Given the description of an element on the screen output the (x, y) to click on. 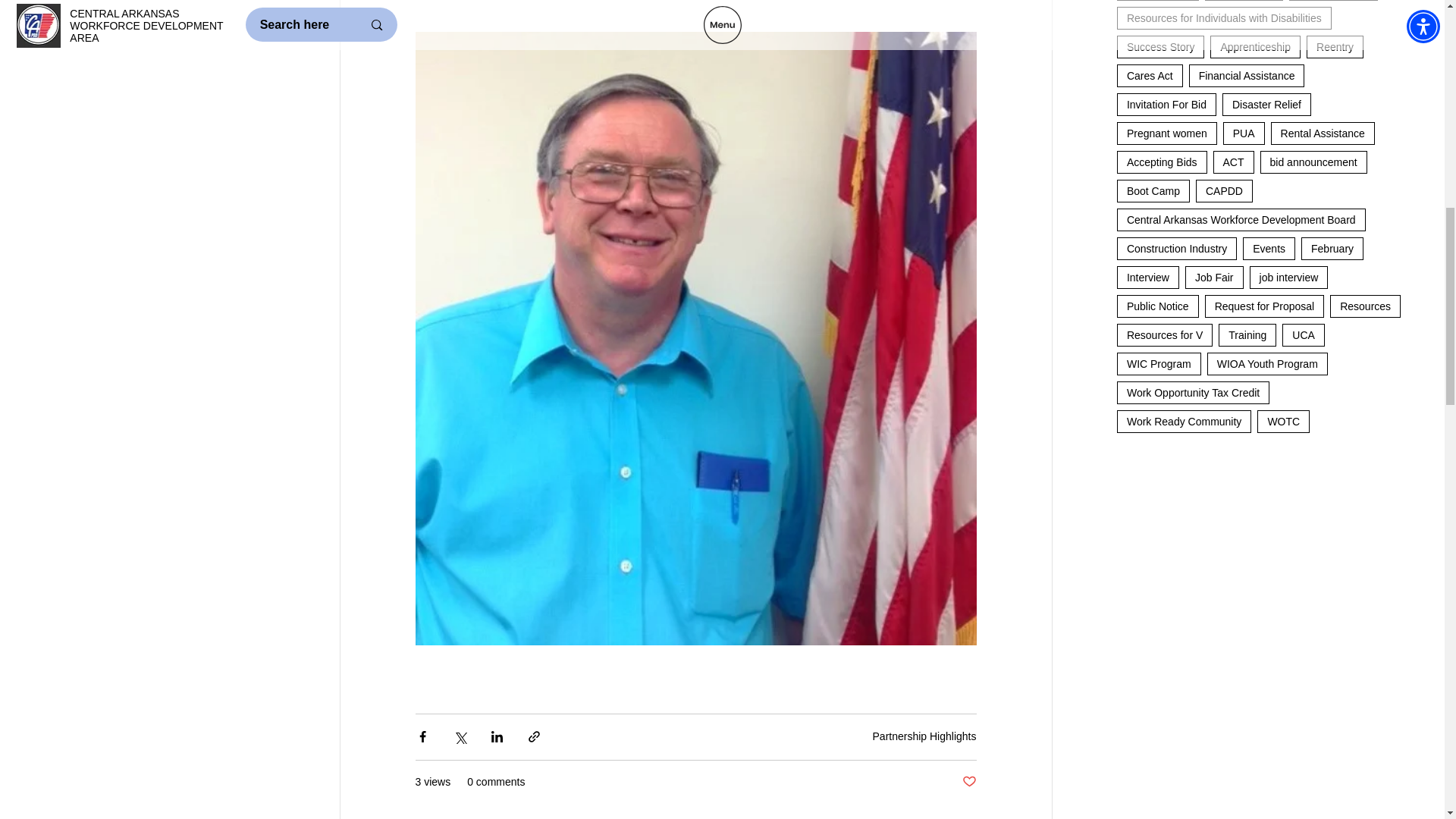
Partnership Highlights (924, 736)
Post not marked as liked (967, 781)
